Given the description of an element on the screen output the (x, y) to click on. 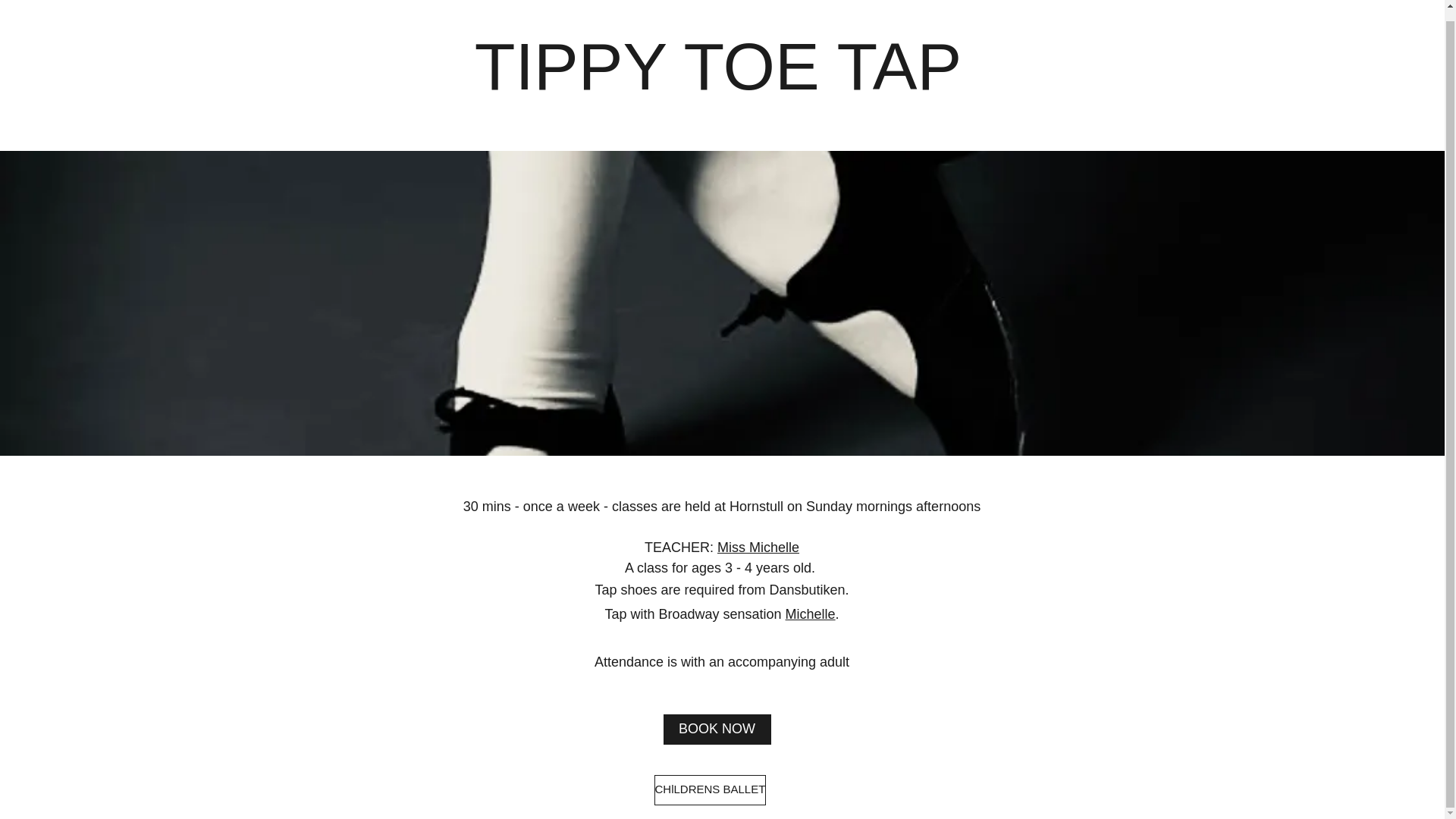
Miss Michelle (758, 547)
BOOK NOW (716, 729)
CHlLDRENS BALLET (709, 789)
Michelle (810, 613)
